Given the description of an element on the screen output the (x, y) to click on. 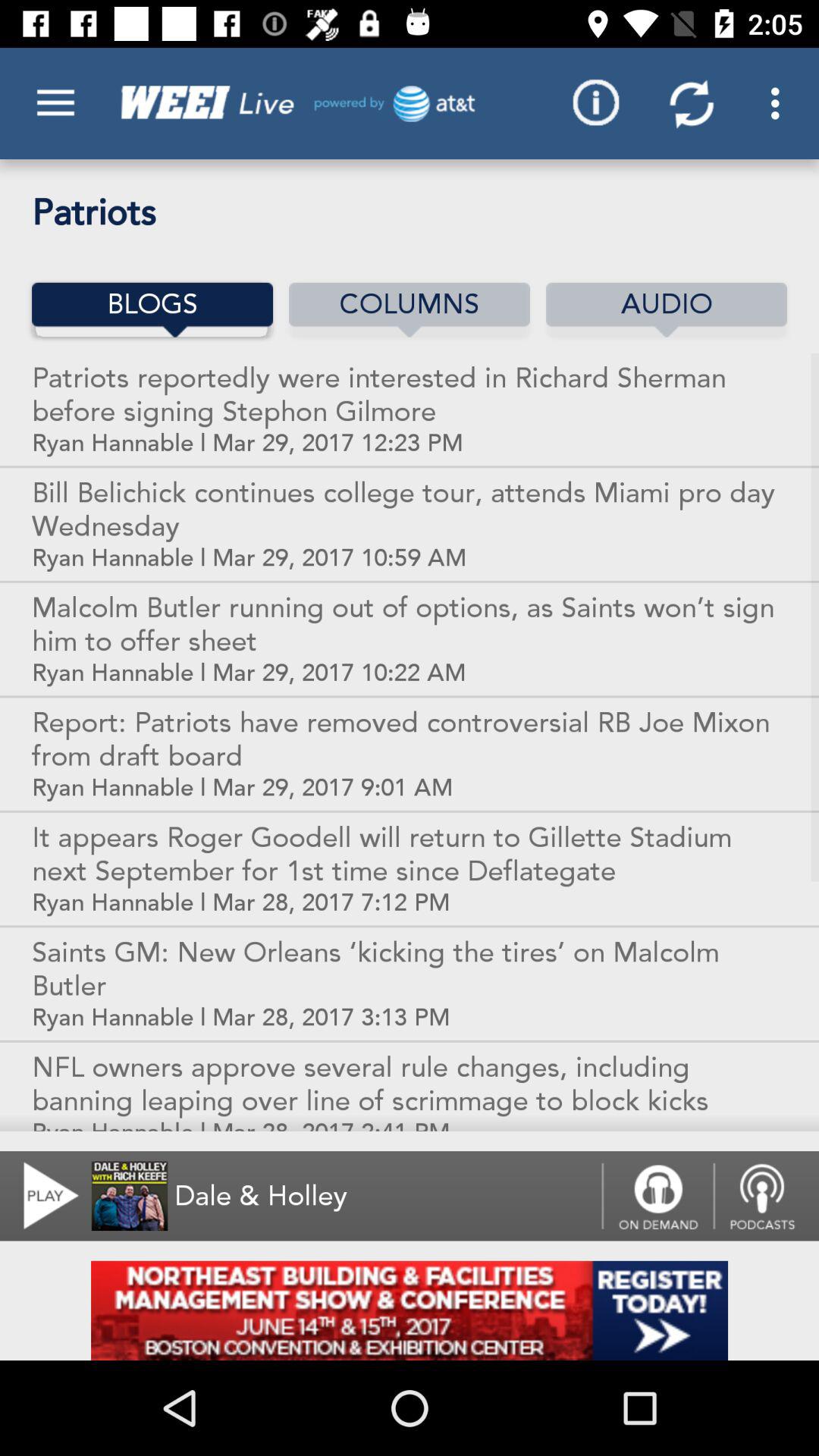
open an advertisements (409, 1310)
